Given the description of an element on the screen output the (x, y) to click on. 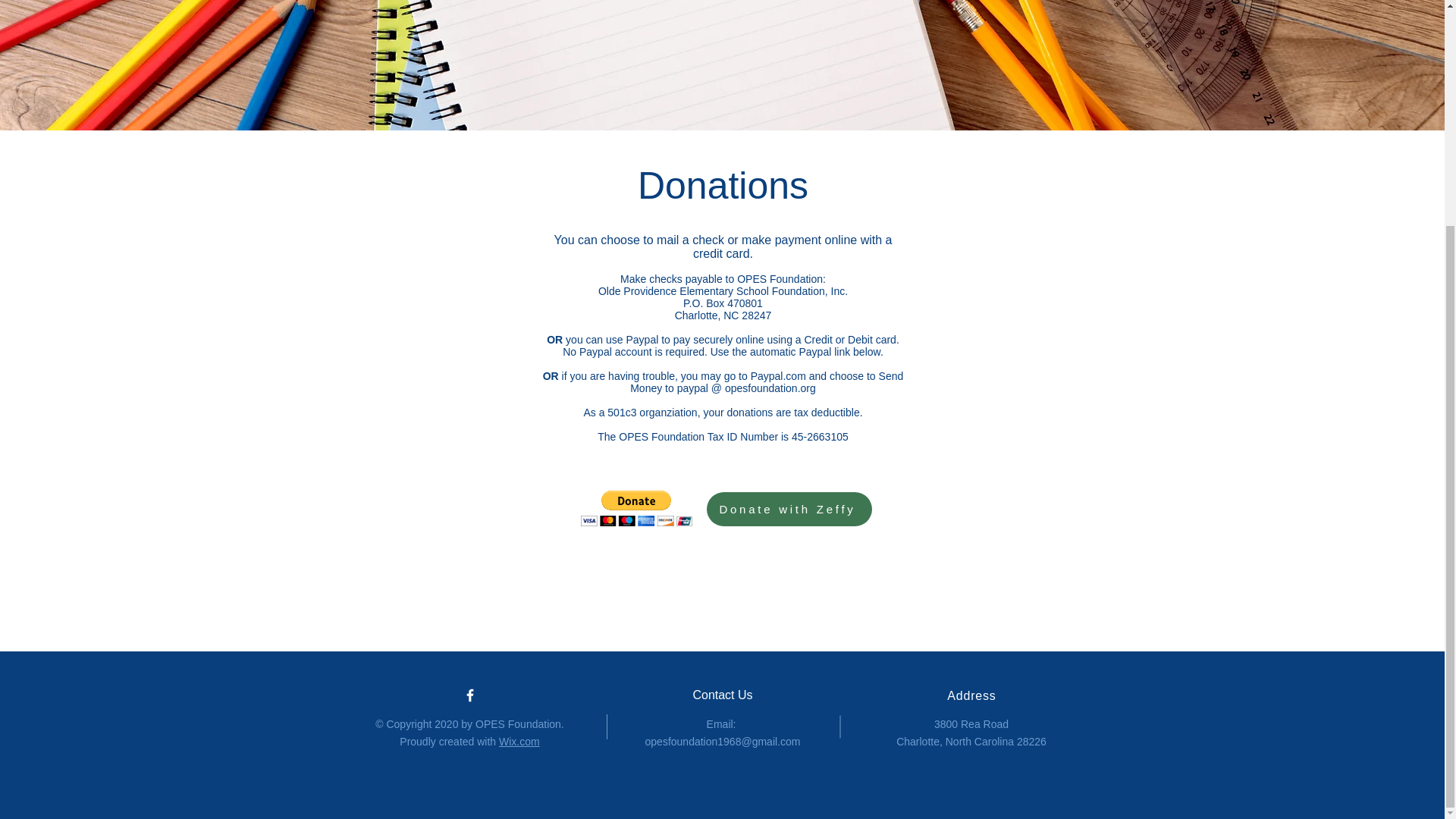
Wix.com (519, 741)
Donate with Zeffy (789, 509)
